Given the description of an element on the screen output the (x, y) to click on. 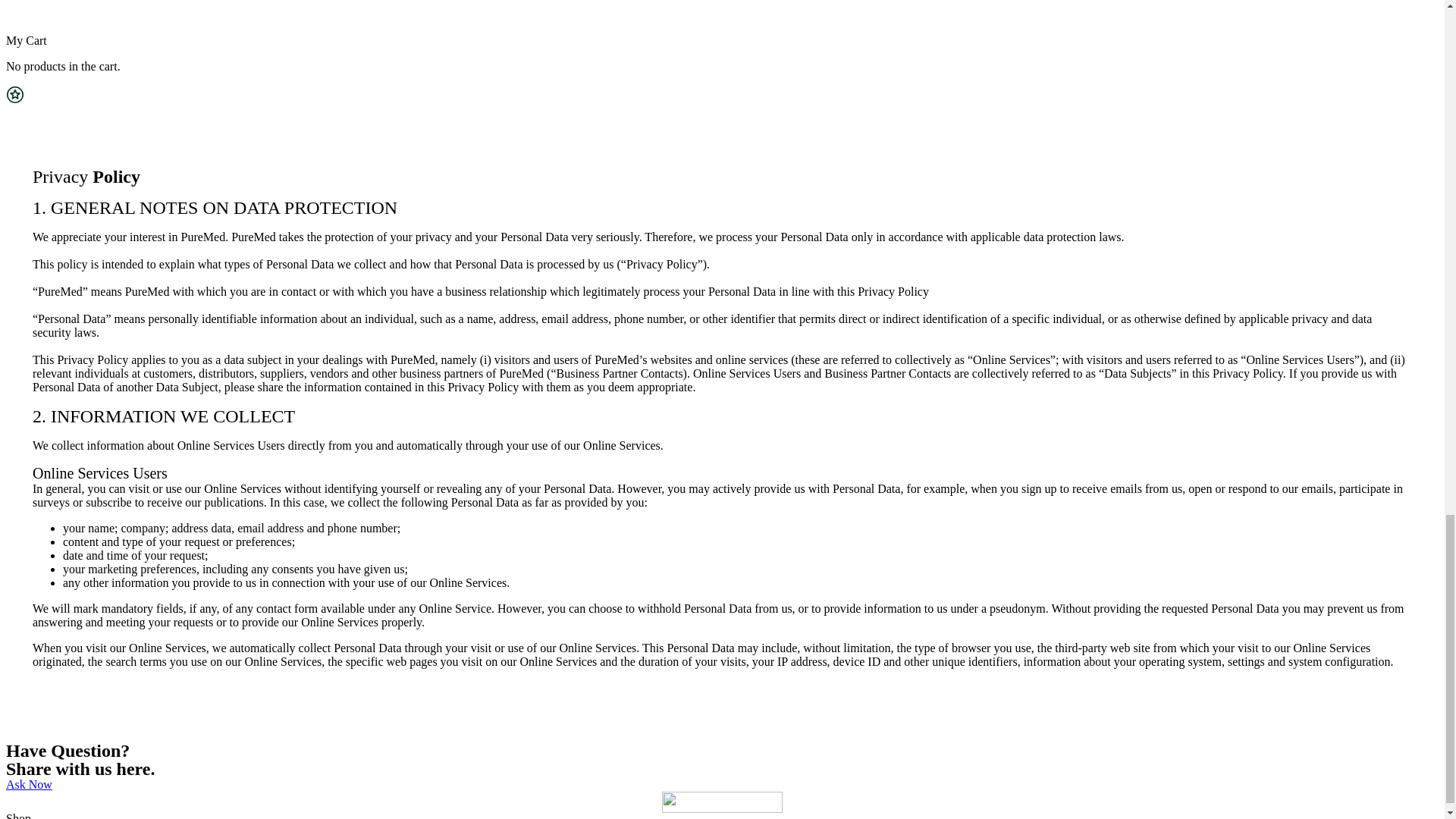
Ask Now (28, 784)
